Given the description of an element on the screen output the (x, y) to click on. 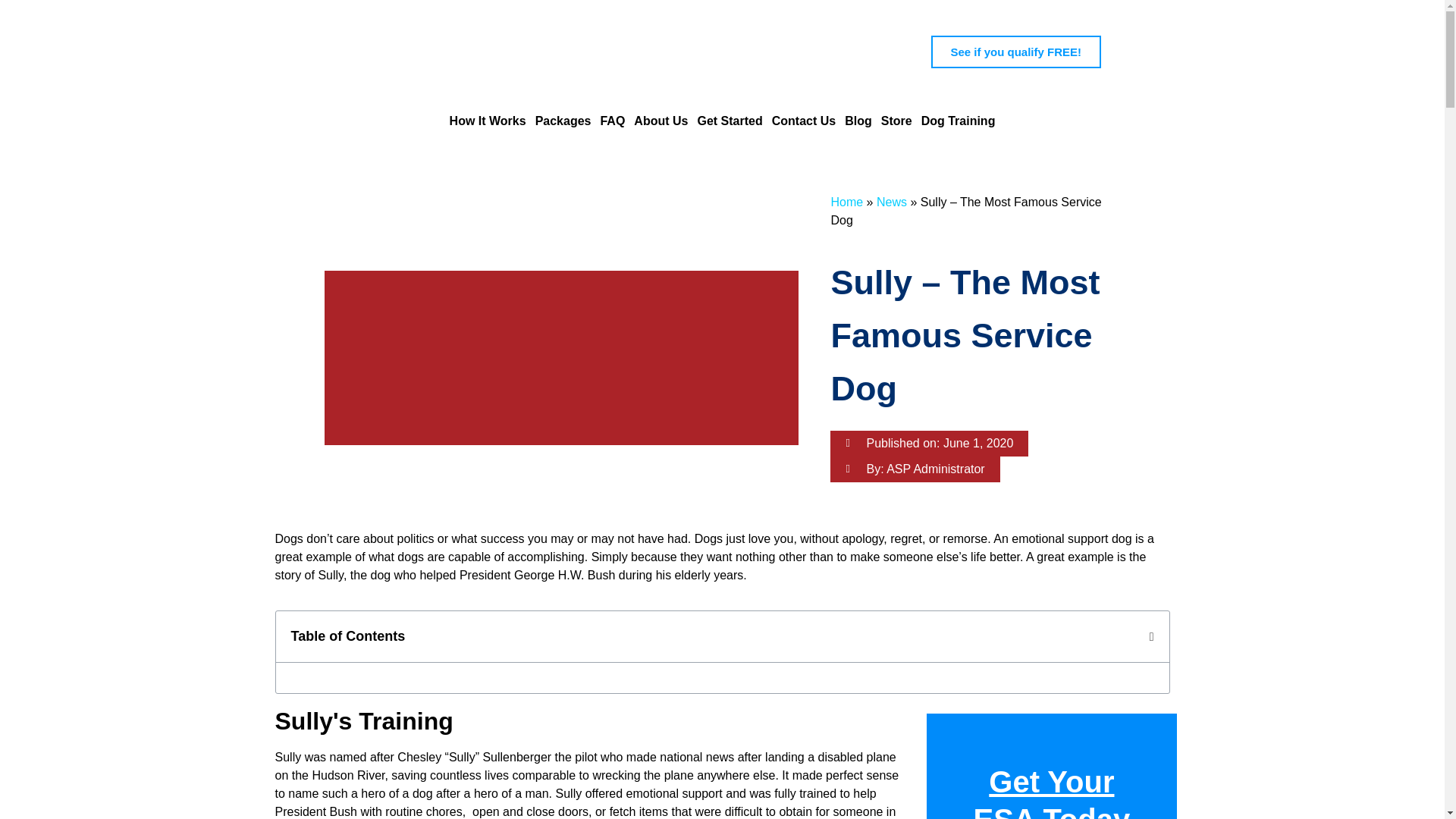
See if you qualify FREE! (1016, 51)
Contact Us (803, 121)
Packages (563, 121)
News (891, 201)
Get Started (729, 121)
How It Works (487, 121)
Dog Training (958, 121)
About Us (660, 121)
Home (846, 201)
